Given the description of an element on the screen output the (x, y) to click on. 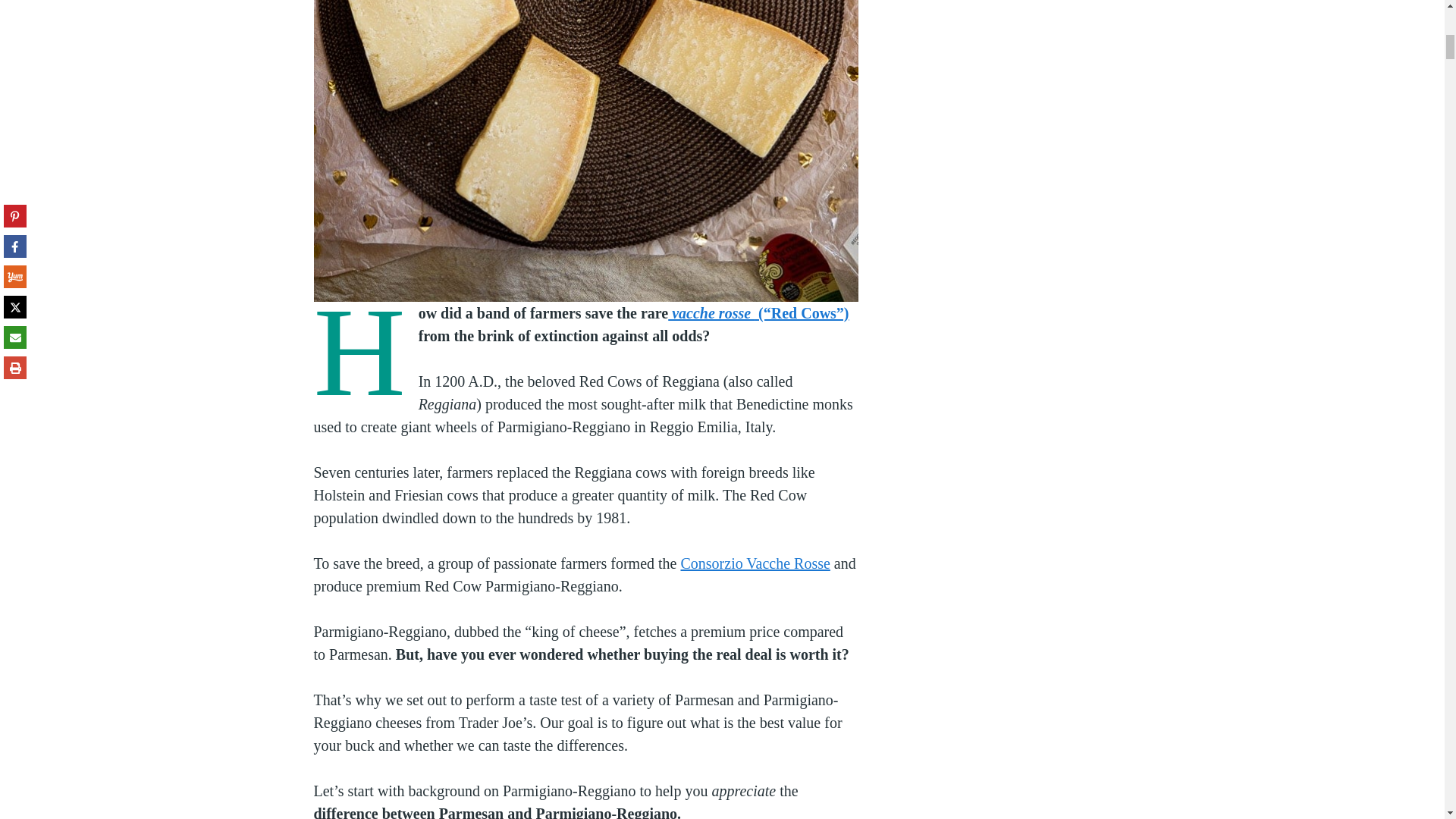
Consorzio Vacche Rosse (754, 563)
Scroll back to top (1406, 720)
 vacche rosse  (711, 312)
